Given the description of an element on the screen output the (x, y) to click on. 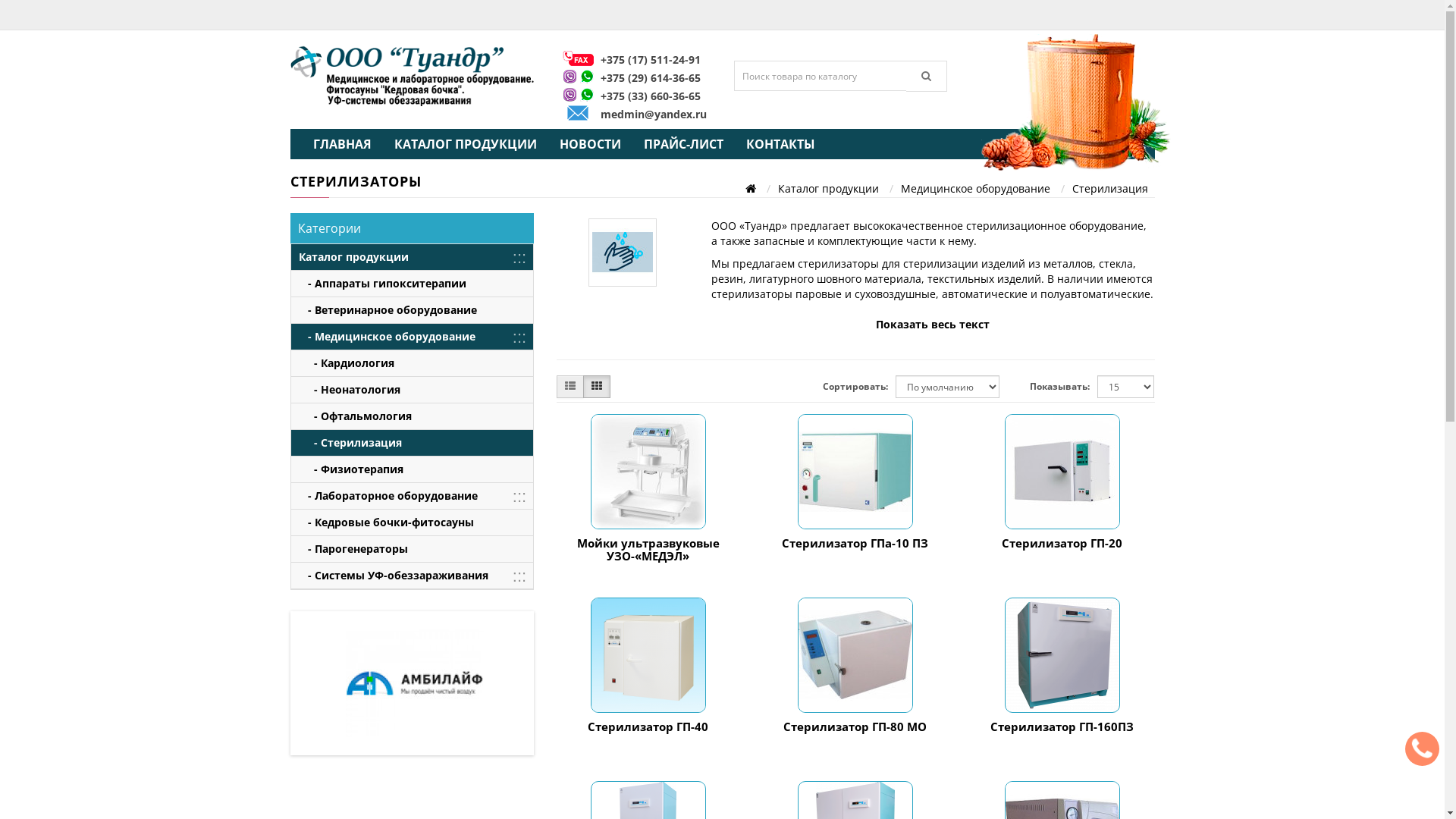
+375 (29) 614-36-65 Element type: text (650, 77)
+375 (17) 511-24-91 Element type: text (650, 59)
+375 (33) 660-36-65 Element type: text (650, 95)
medmin@yandex.ru Element type: text (653, 113)
